Given the description of an element on the screen output the (x, y) to click on. 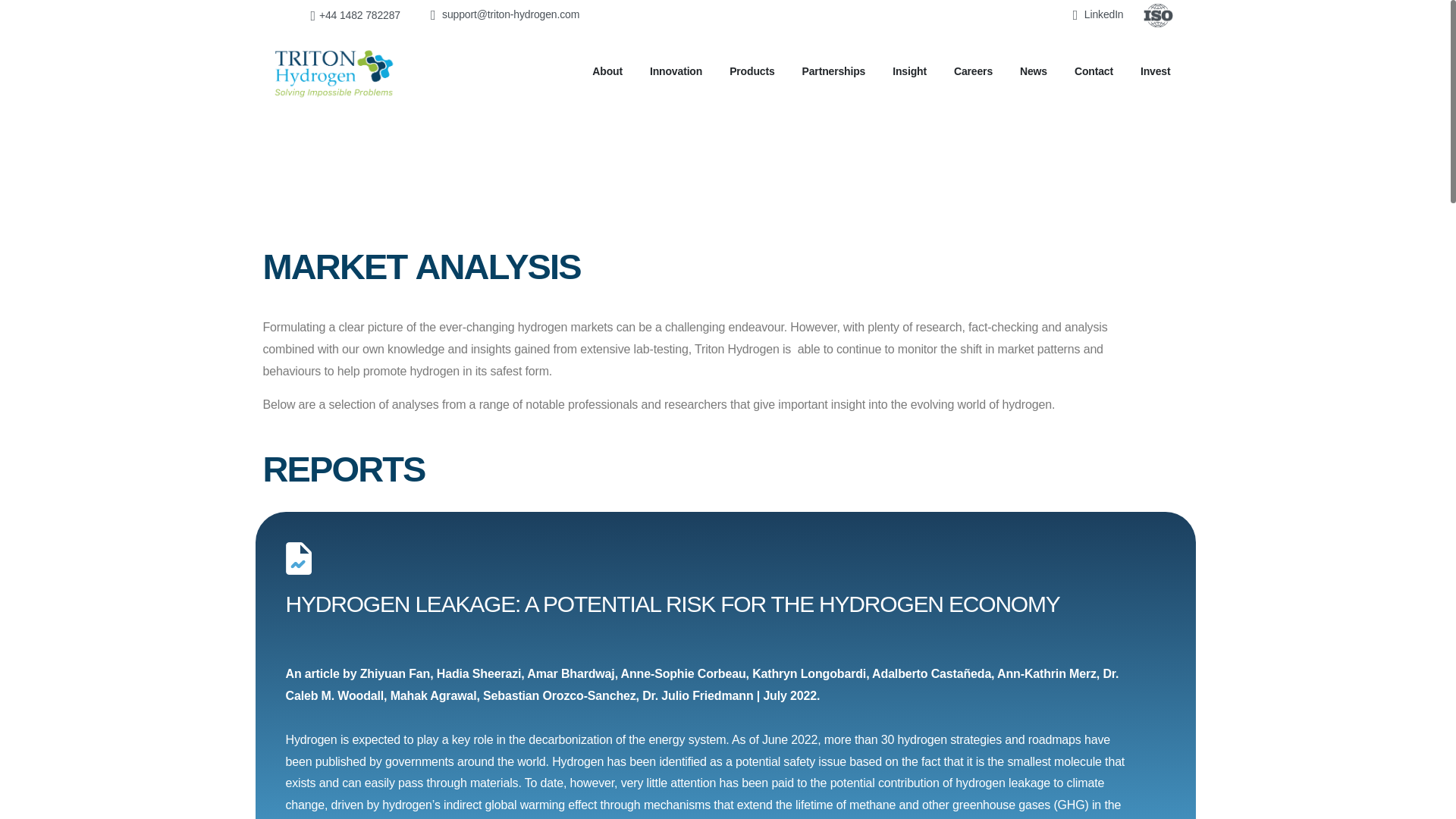
LinkedIn (1011, 765)
Get in touch (831, 765)
Terms (659, 765)
Invest (1155, 71)
Innovation (675, 71)
News (1032, 71)
Partnerships (834, 71)
Partnerships (834, 71)
Press (737, 765)
